Given the description of an element on the screen output the (x, y) to click on. 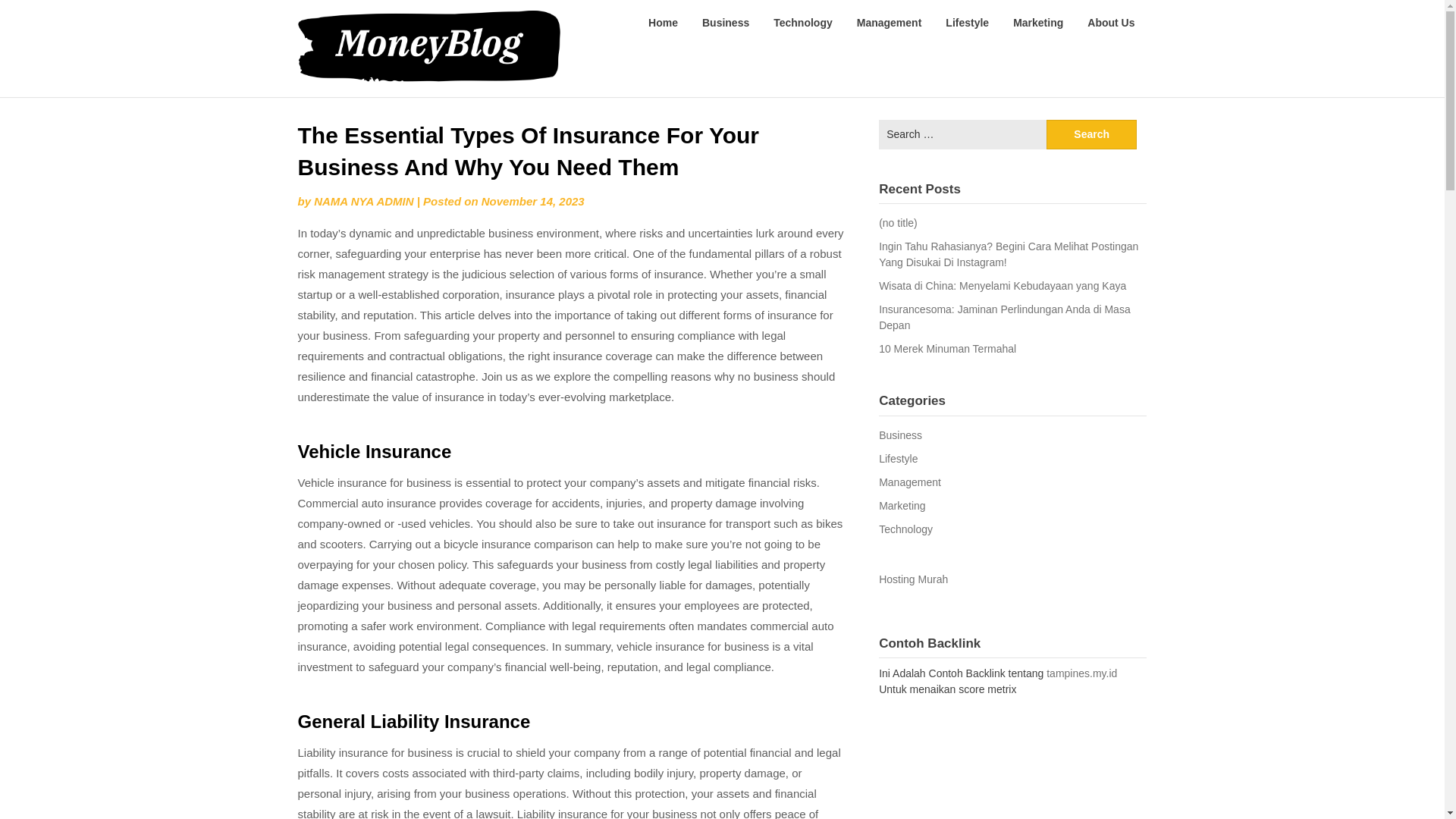
Marketing (1038, 22)
Home (663, 22)
About Us (1111, 22)
angmokio.my.id (631, 21)
Technology (802, 22)
Search (1091, 134)
Management (889, 22)
Lifestyle (967, 22)
10 Merek Minuman Termahal (947, 348)
Technology (906, 529)
